Given the description of an element on the screen output the (x, y) to click on. 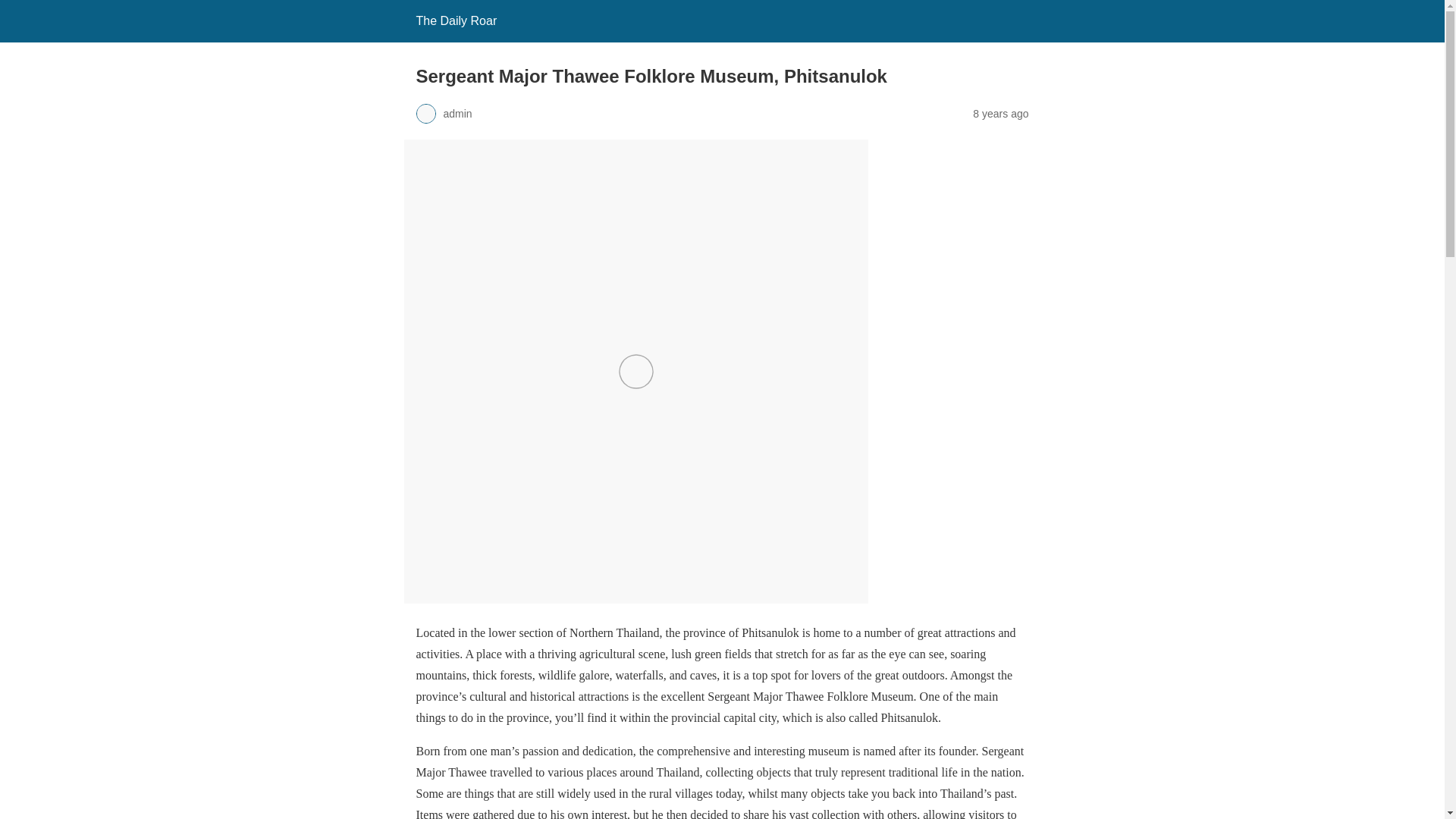
The Daily Roar (455, 20)
